Given the description of an element on the screen output the (x, y) to click on. 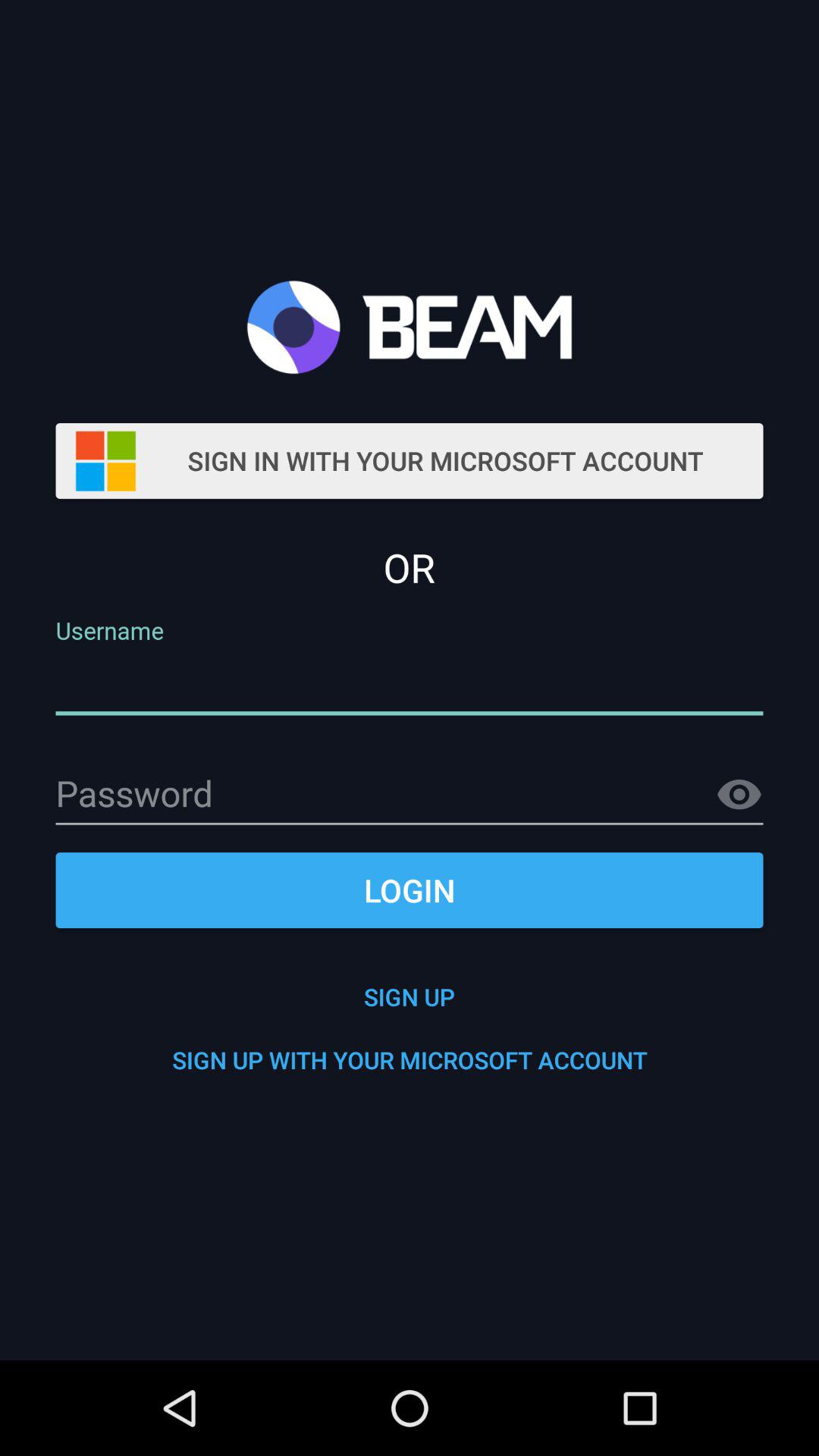
username input field (409, 684)
